Given the description of an element on the screen output the (x, y) to click on. 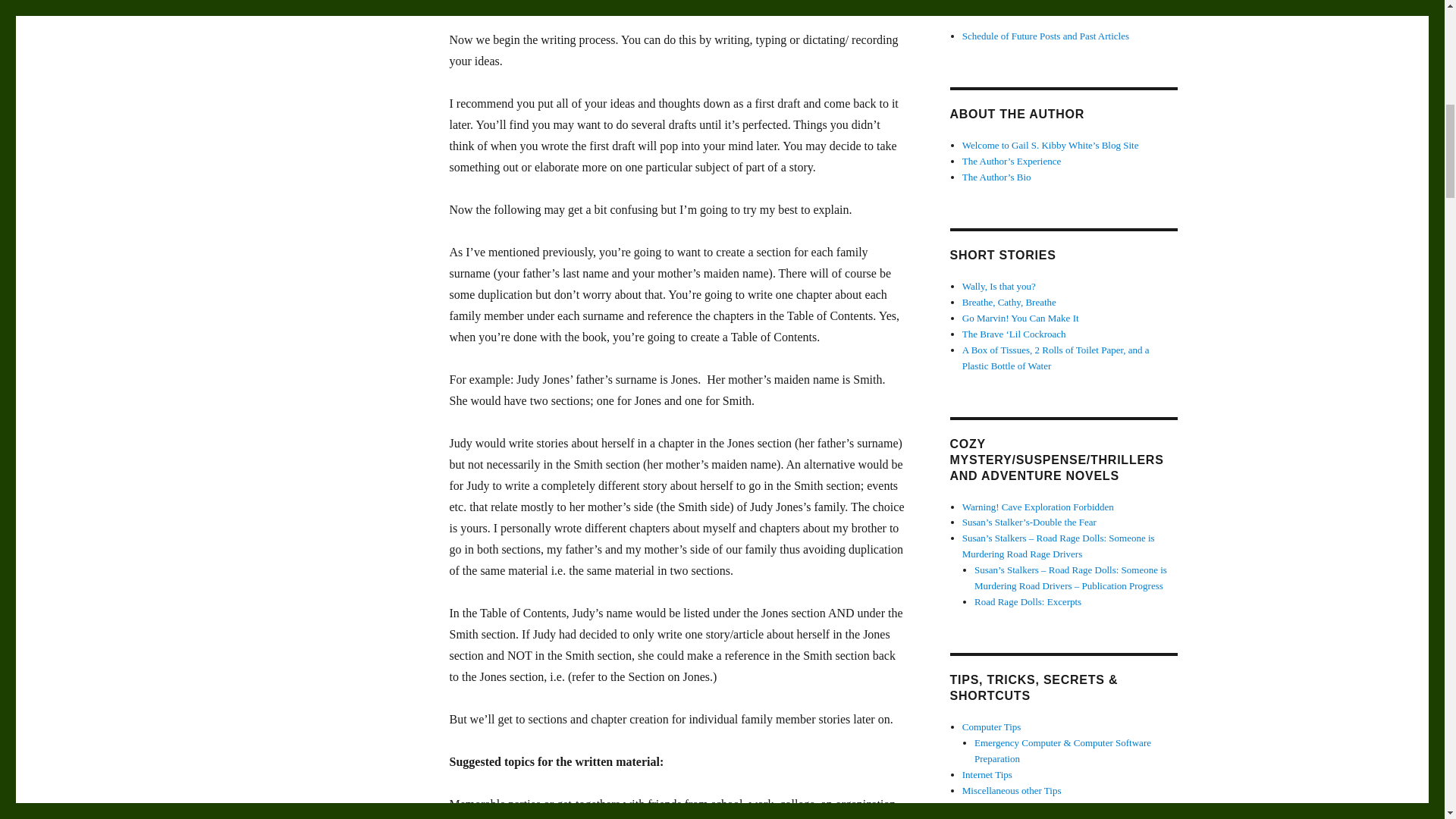
Schedule of Future Posts and Past Articles (1045, 35)
